Given the description of an element on the screen output the (x, y) to click on. 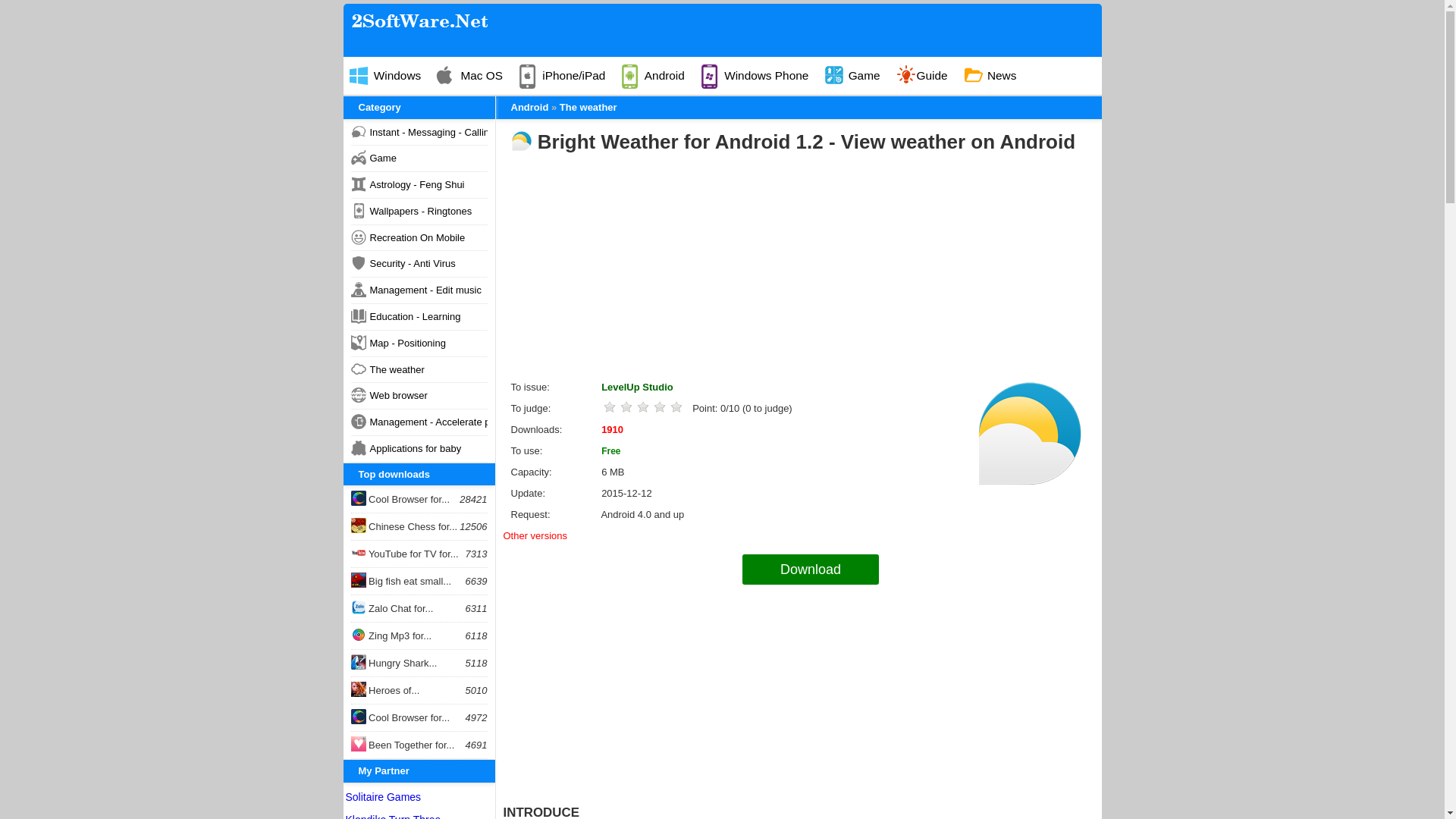
Guide (928, 76)
Android (659, 76)
News (997, 76)
Download (810, 569)
Other versions (535, 535)
Bright Weather for Android 1.2 - View weather on Android (806, 141)
Android (529, 107)
Game (859, 76)
LevelUp Studio (636, 386)
The weather (588, 107)
Mac OS (476, 76)
Windows (392, 76)
Windows Phone (762, 76)
